Given the description of an element on the screen output the (x, y) to click on. 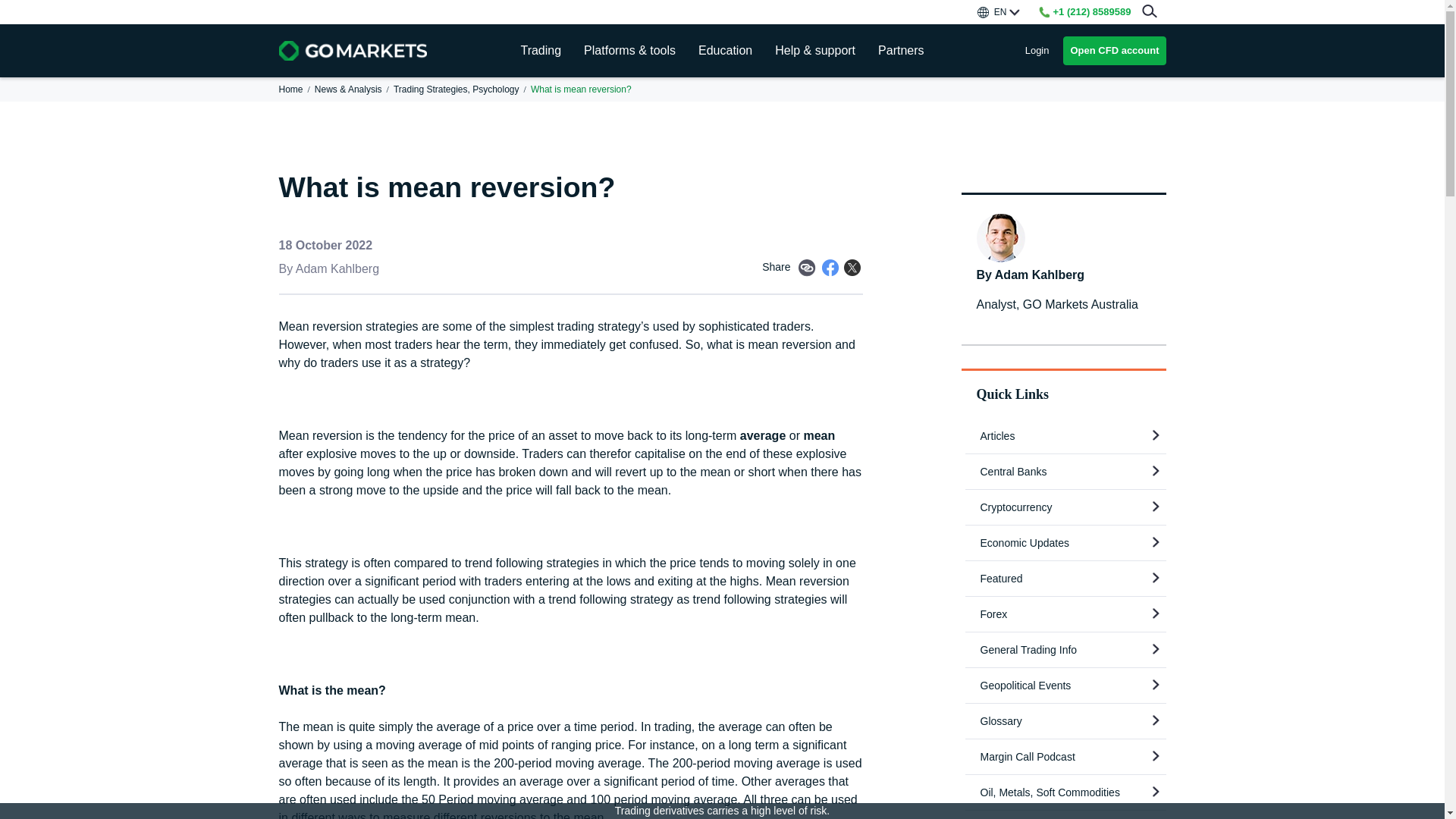
Open CFD account (1114, 50)
GO Markets Forex Trading Provider (352, 50)
EN (998, 11)
